Given the description of an element on the screen output the (x, y) to click on. 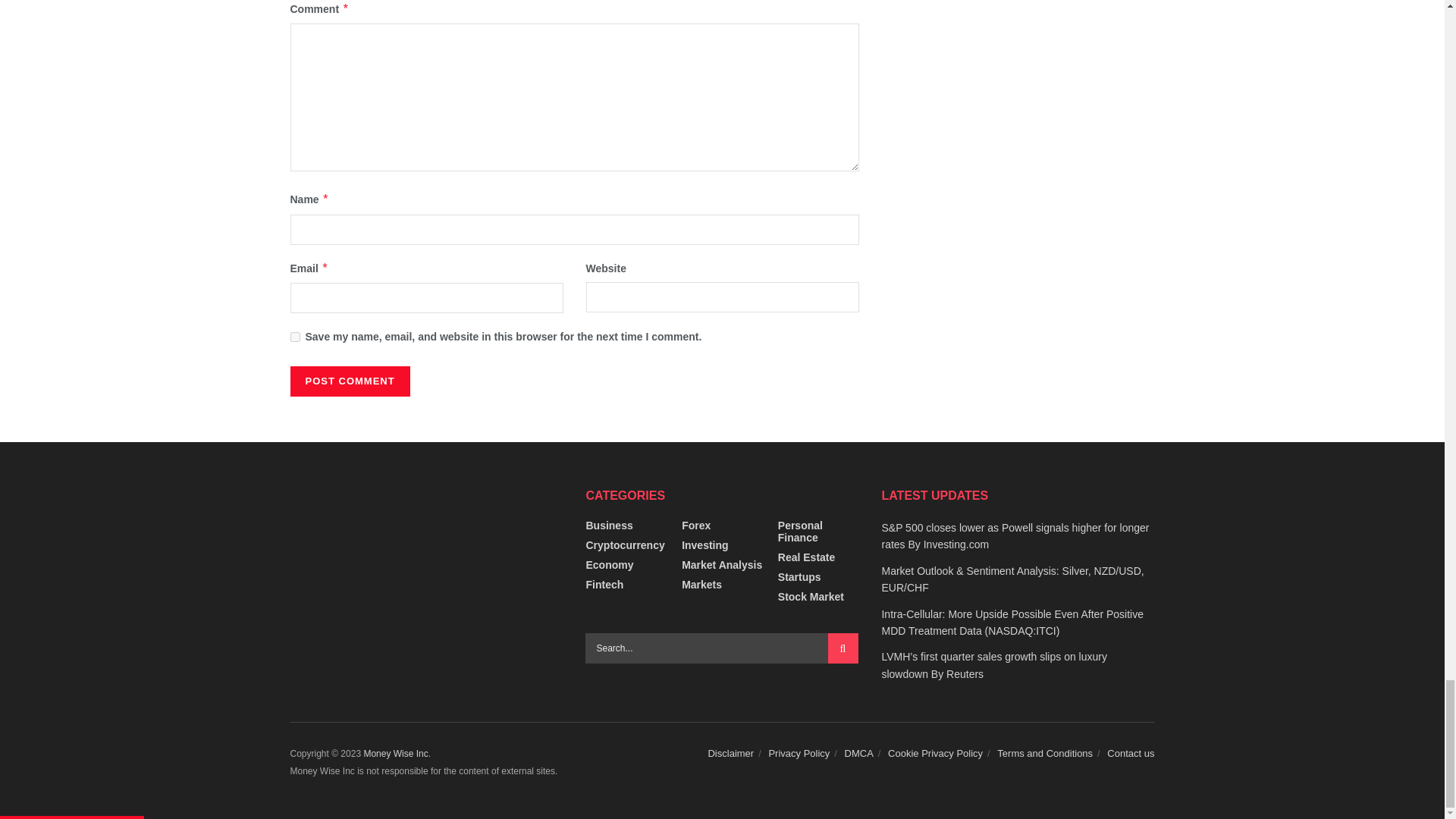
yes (294, 337)
Money Wise Inc (395, 753)
Post Comment (349, 381)
